Given the description of an element on the screen output the (x, y) to click on. 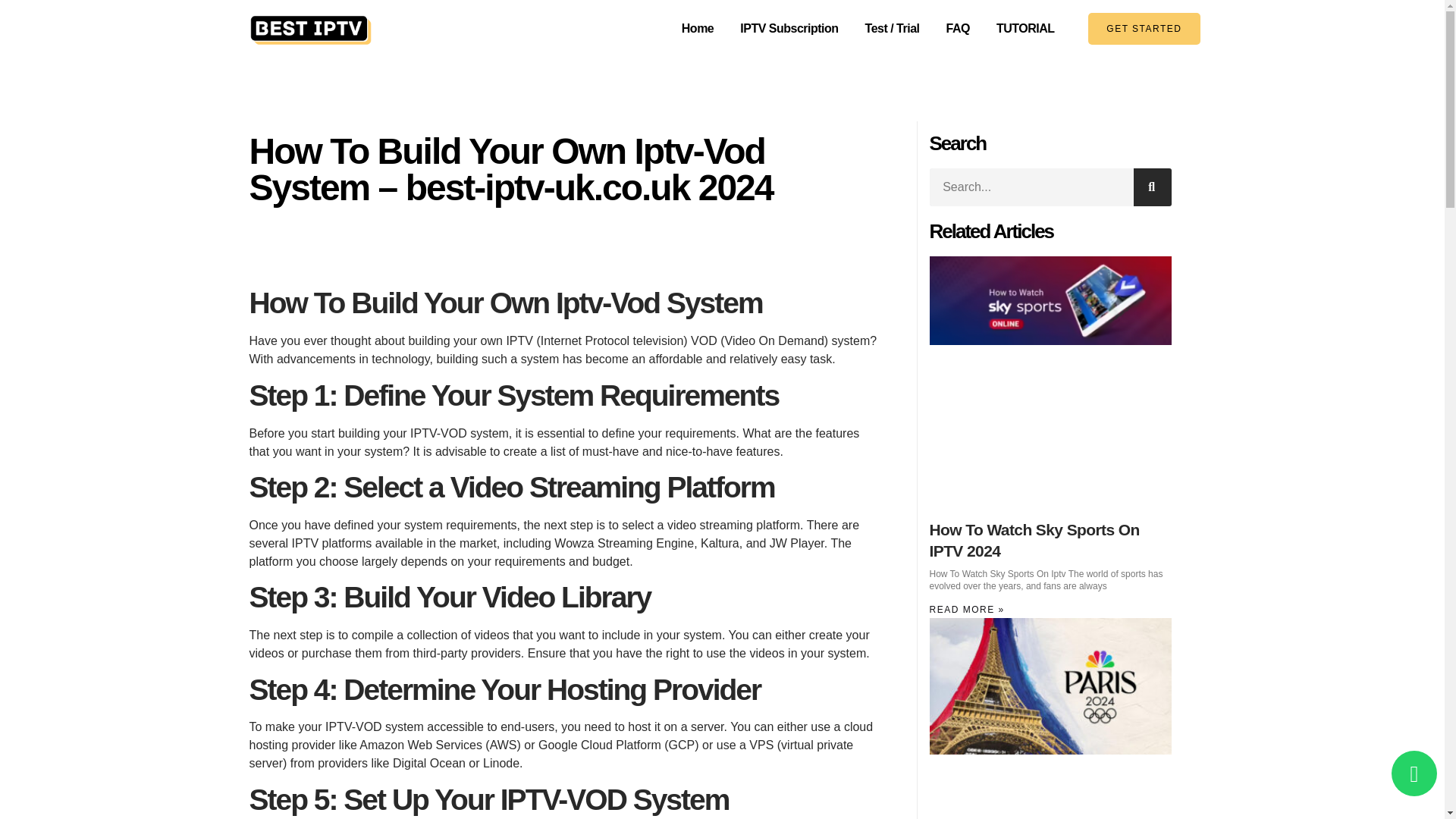
GET STARTED (1143, 29)
IPTV Subscription (788, 28)
TUTORIAL (1024, 28)
How To Watch Sky Sports On IPTV 2024 (1035, 539)
